Given the description of an element on the screen output the (x, y) to click on. 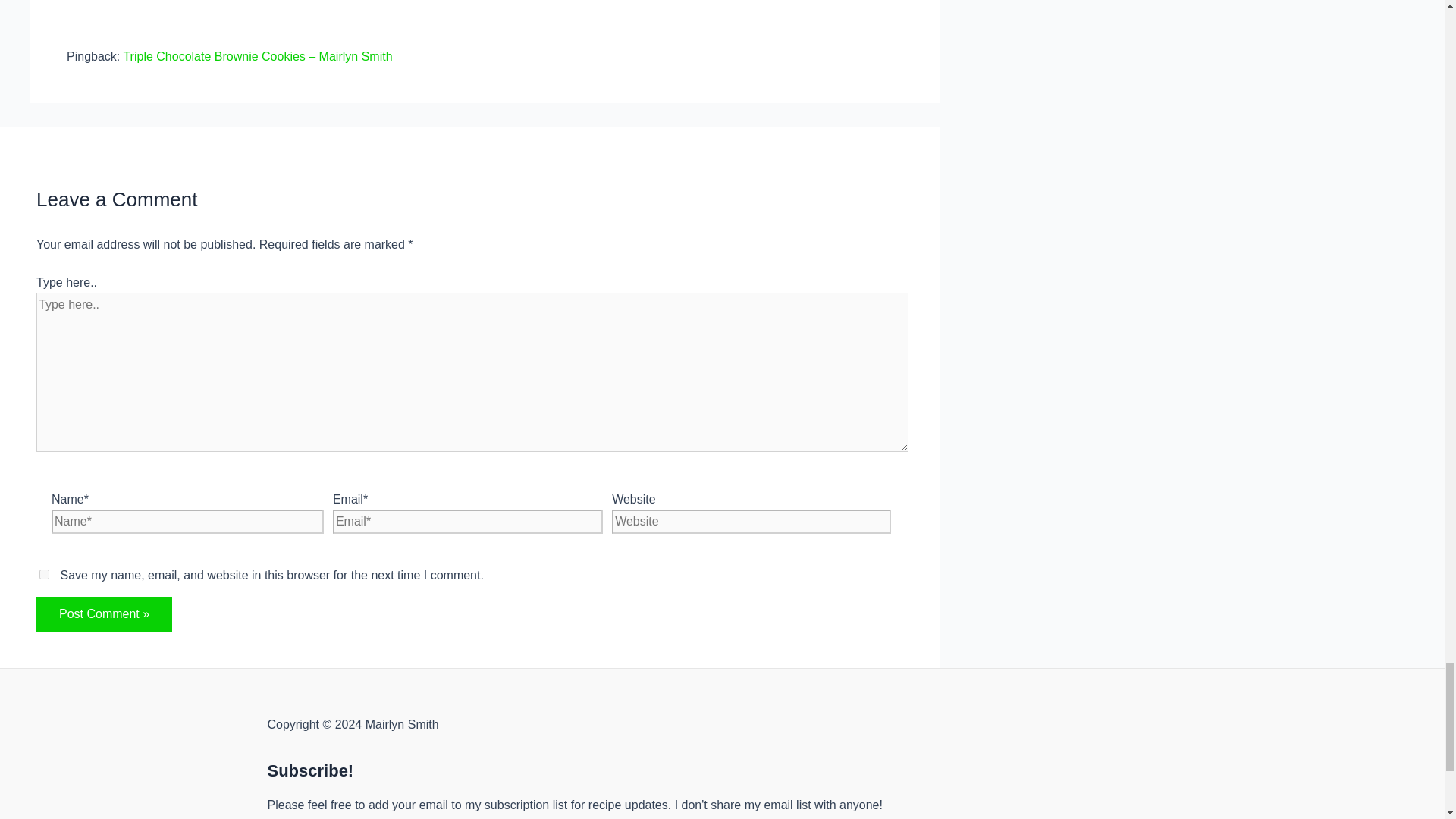
yes (44, 574)
